Given the description of an element on the screen output the (x, y) to click on. 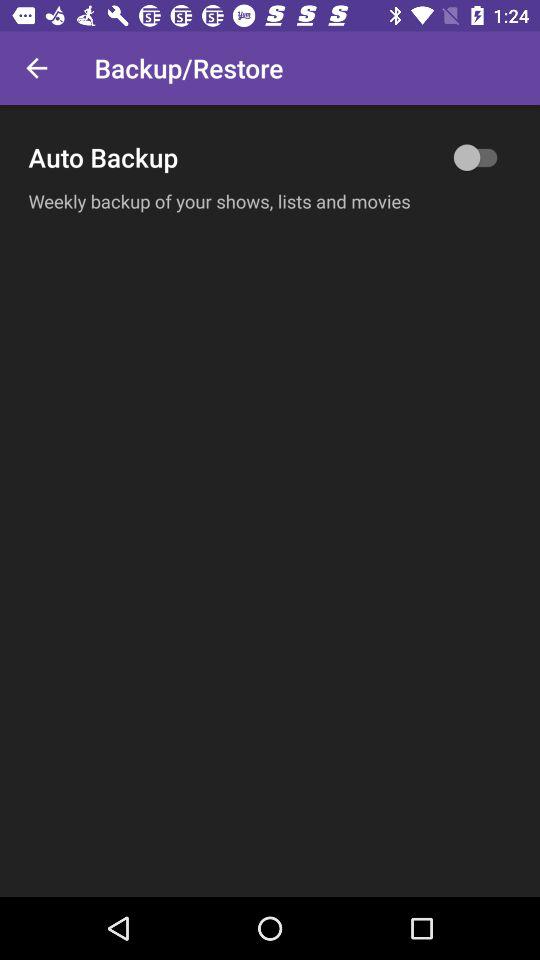
click icon above weekly backup of (269, 157)
